Given the description of an element on the screen output the (x, y) to click on. 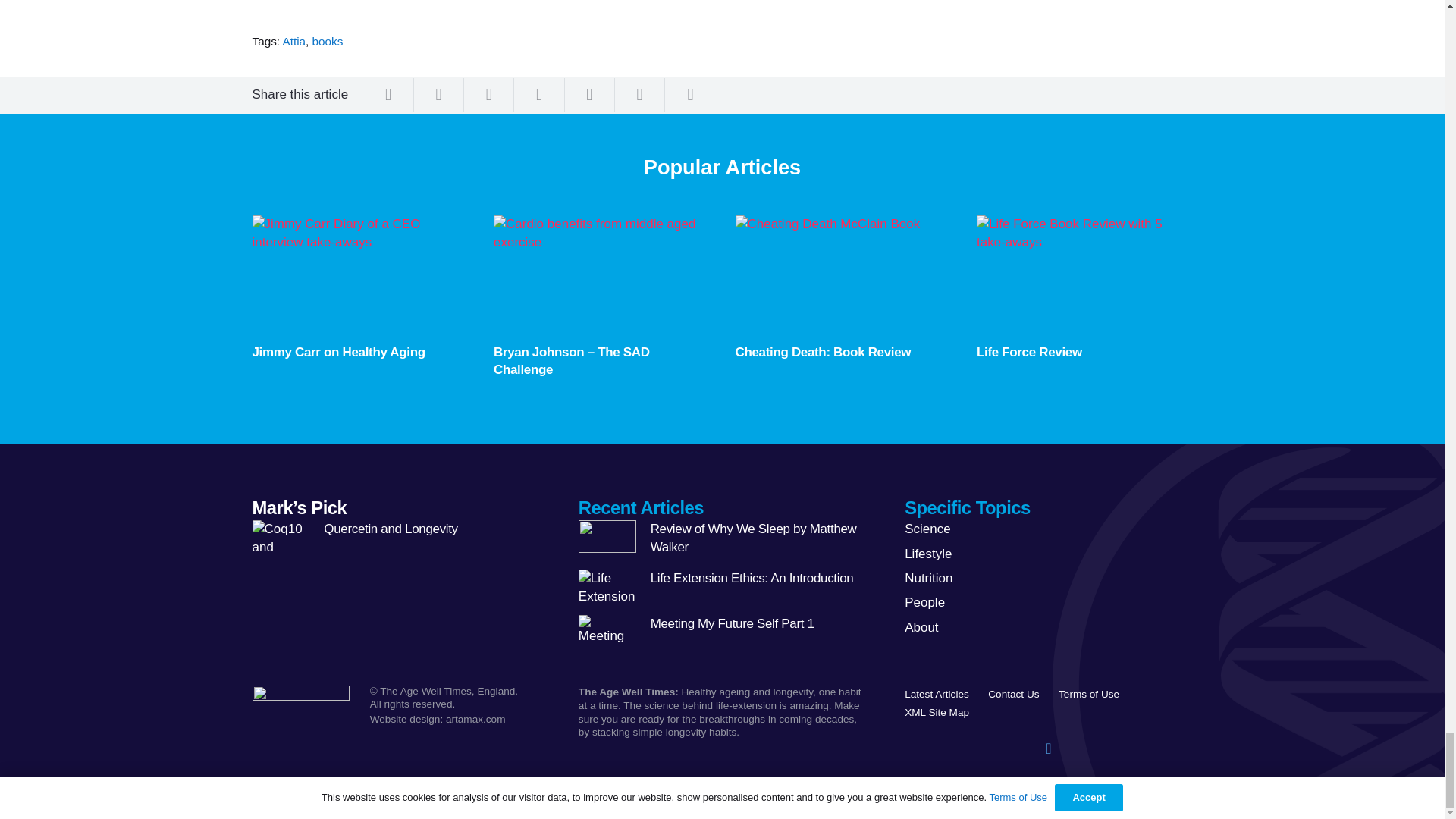
Share this (689, 94)
Share this (388, 94)
Twitter (1048, 748)
Share this (639, 94)
Tweet this (438, 94)
Share this (488, 94)
Pin this (538, 94)
Attia (293, 41)
books (328, 41)
Share this (589, 94)
